Given the description of an element on the screen output the (x, y) to click on. 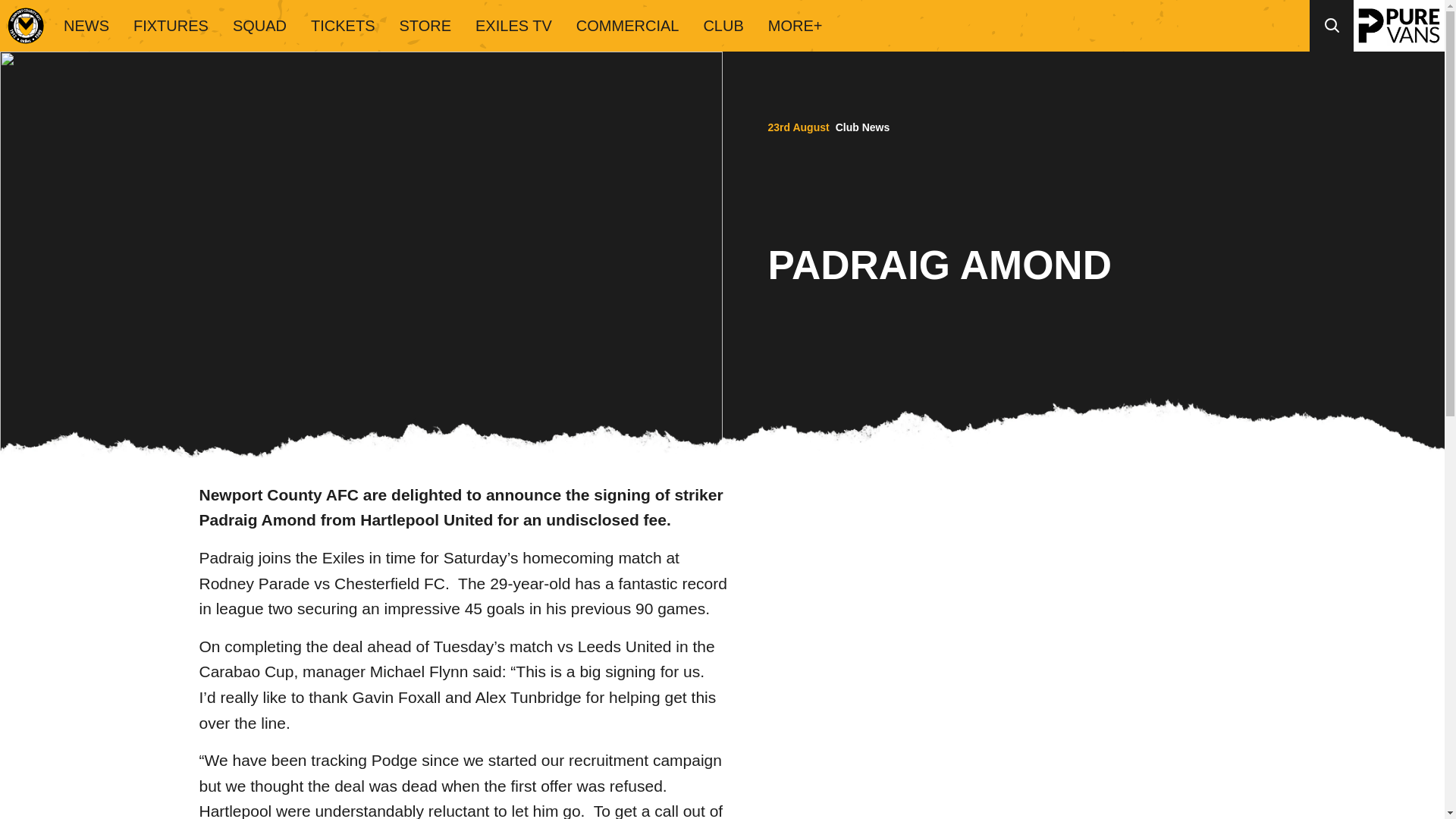
COMMERCIAL (627, 25)
STORE (425, 25)
Back to home (25, 25)
TICKETS (342, 25)
NEWS (85, 25)
EXILES TV (513, 25)
CLUB (722, 25)
SQUAD (259, 25)
FIXTURES (170, 25)
